Given the description of an element on the screen output the (x, y) to click on. 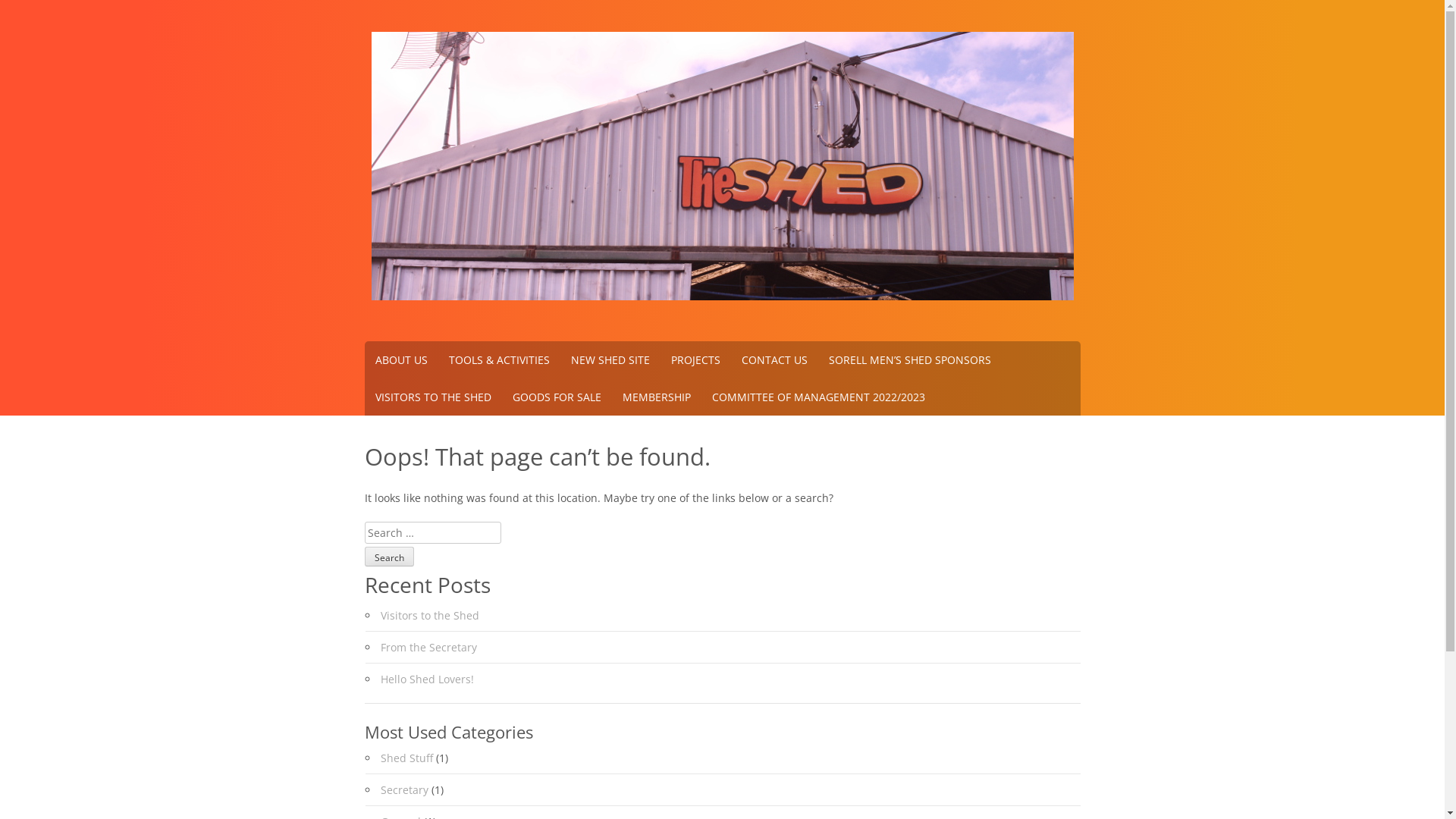
Search Element type: text (388, 556)
NEW SHED SITE Element type: text (609, 359)
TOOLS & ACTIVITIES Element type: text (499, 359)
Secretary Element type: text (404, 789)
From the Secretary Element type: text (428, 647)
PROJECTS Element type: text (694, 359)
ABOUT US Element type: text (400, 359)
MEMBERSHIP Element type: text (655, 396)
Visitors to the Shed Element type: text (429, 615)
CONTACT US Element type: text (774, 359)
Shed Stuff Element type: text (406, 757)
COMMITTEE OF MANAGEMENT 2022/2023 Element type: text (817, 396)
VISITORS TO THE SHED Element type: text (432, 396)
Hello Shed Lovers! Element type: text (426, 678)
GOODS FOR SALE Element type: text (556, 396)
